Given the description of an element on the screen output the (x, y) to click on. 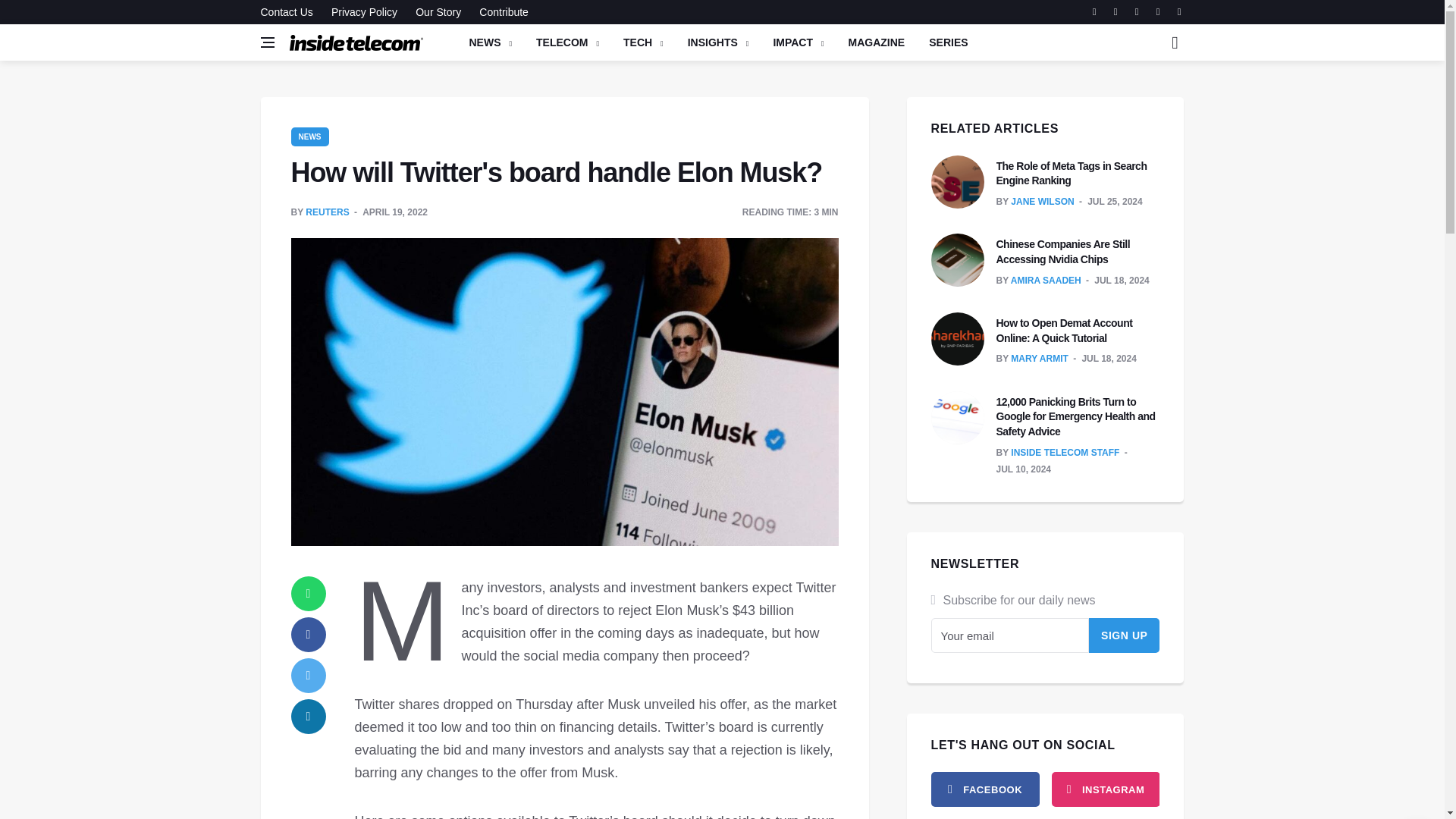
Our Story (437, 12)
whatsapp (308, 593)
facebook (308, 634)
twitter (308, 675)
instagram (1104, 789)
Sign Up (1124, 635)
facebook (985, 789)
Contribute (499, 12)
Privacy Policy (363, 12)
linkedin (308, 716)
Contact Us (290, 12)
